Given the description of an element on the screen output the (x, y) to click on. 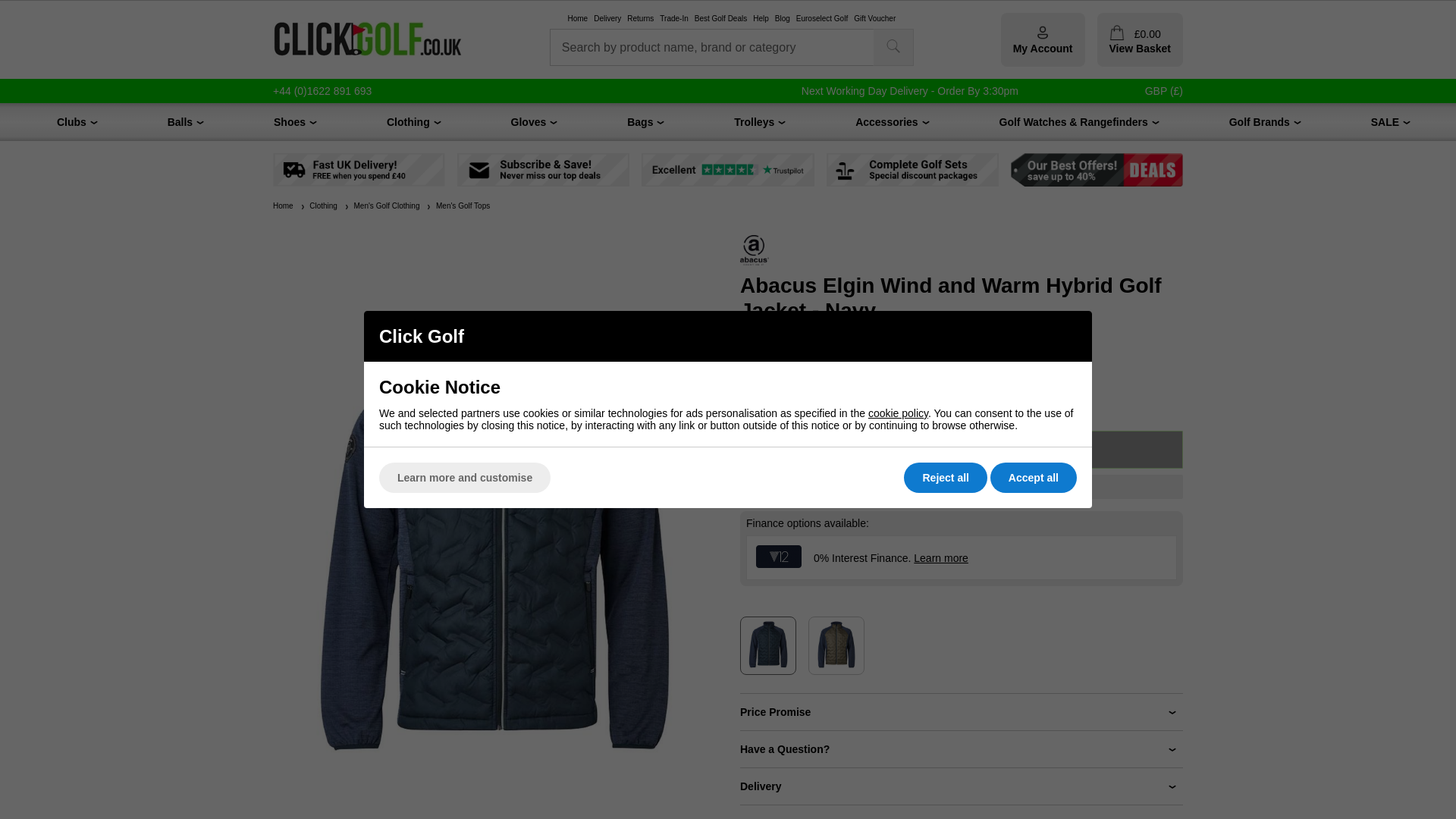
Euroselect Golf (821, 18)
1 (762, 464)
Balls (179, 121)
Shoes (289, 121)
Prices displayed in GBP (1163, 91)
Home (577, 18)
Returns (640, 18)
Delivery (607, 18)
My Account (1042, 39)
Best Golf Deals (720, 18)
